Given the description of an element on the screen output the (x, y) to click on. 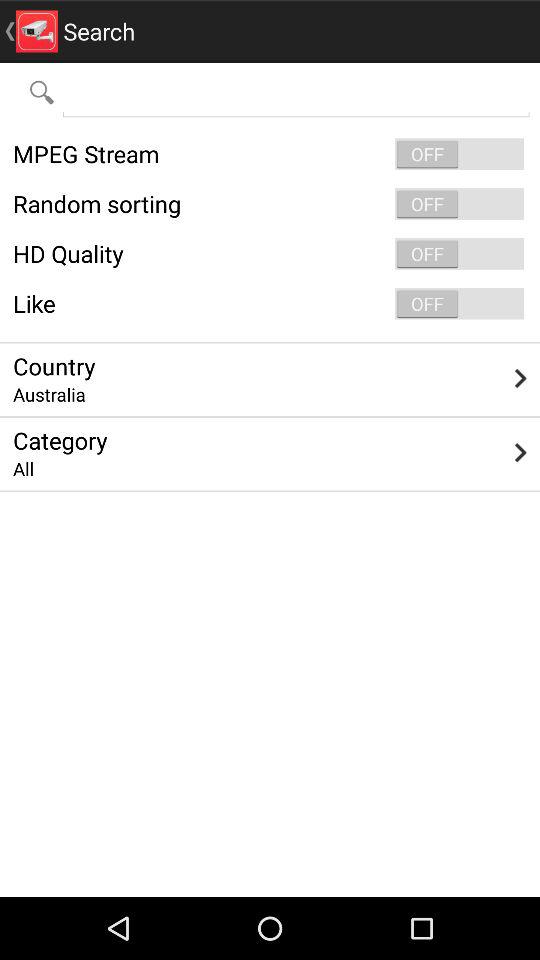
swipe until mpeg stream icon (269, 153)
